Given the description of an element on the screen output the (x, y) to click on. 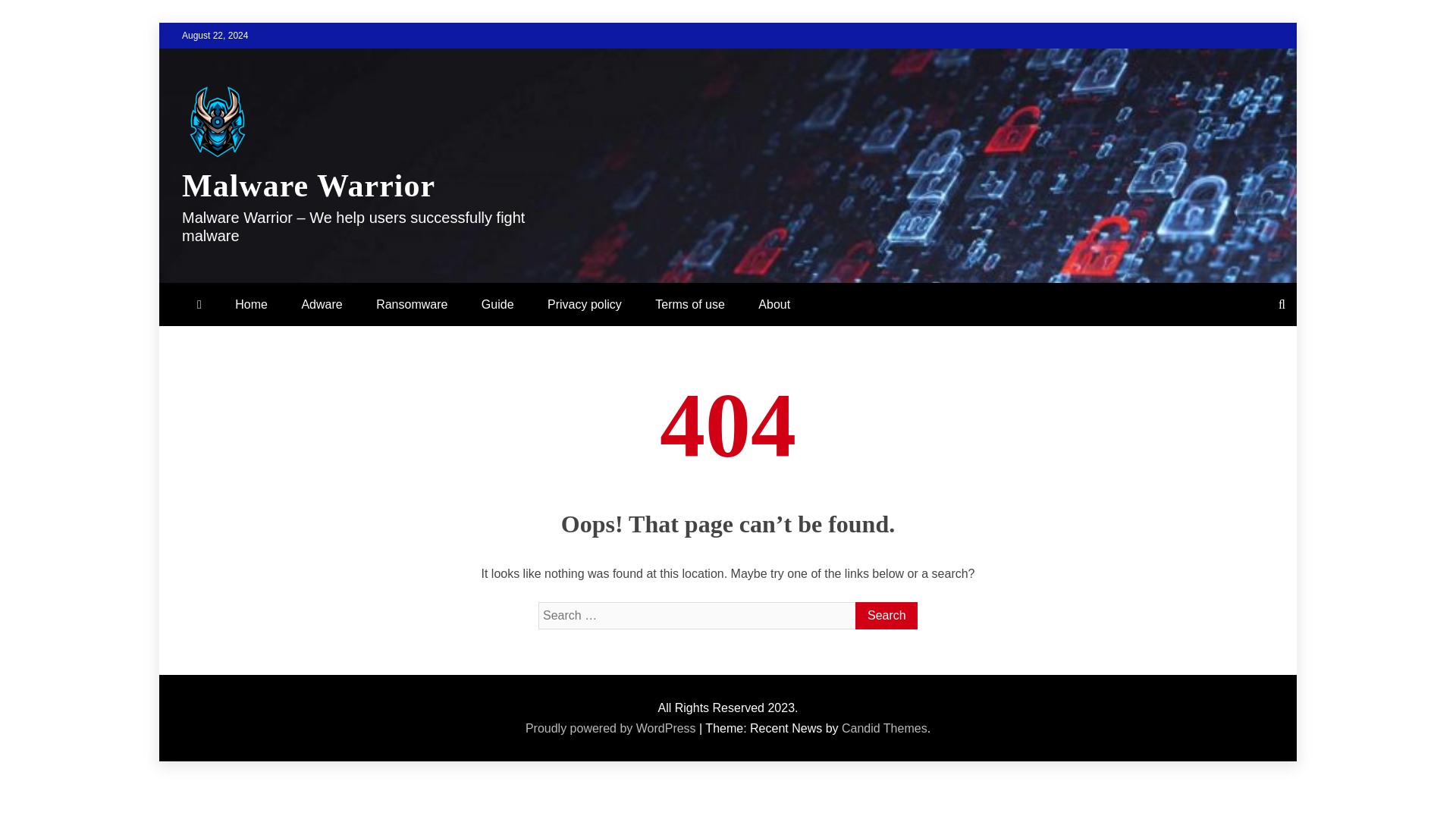
Search (886, 615)
Adware (320, 303)
Proudly powered by WordPress (611, 727)
Terms of use (689, 303)
Home (250, 303)
Malware Warrior (308, 185)
Ransomware (412, 303)
About (773, 303)
Privacy policy (584, 303)
Search (886, 615)
